Given the description of an element on the screen output the (x, y) to click on. 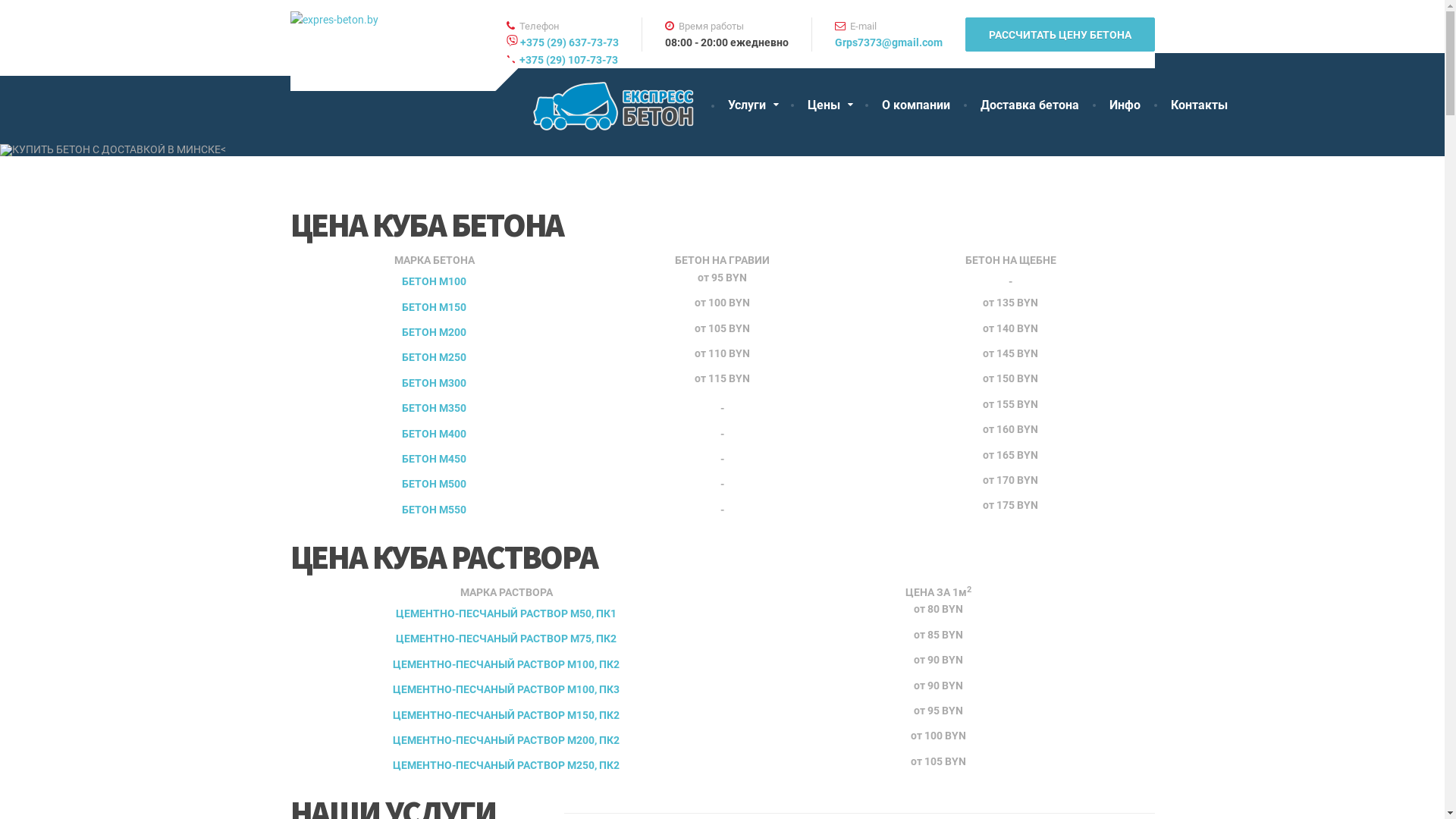
Grps7373@gmail.com Element type: text (887, 42)
+375 (29) 637-73-73 Element type: text (569, 42)
+375 (29) 107-73-73 Element type: text (562, 59)
